Given the description of an element on the screen output the (x, y) to click on. 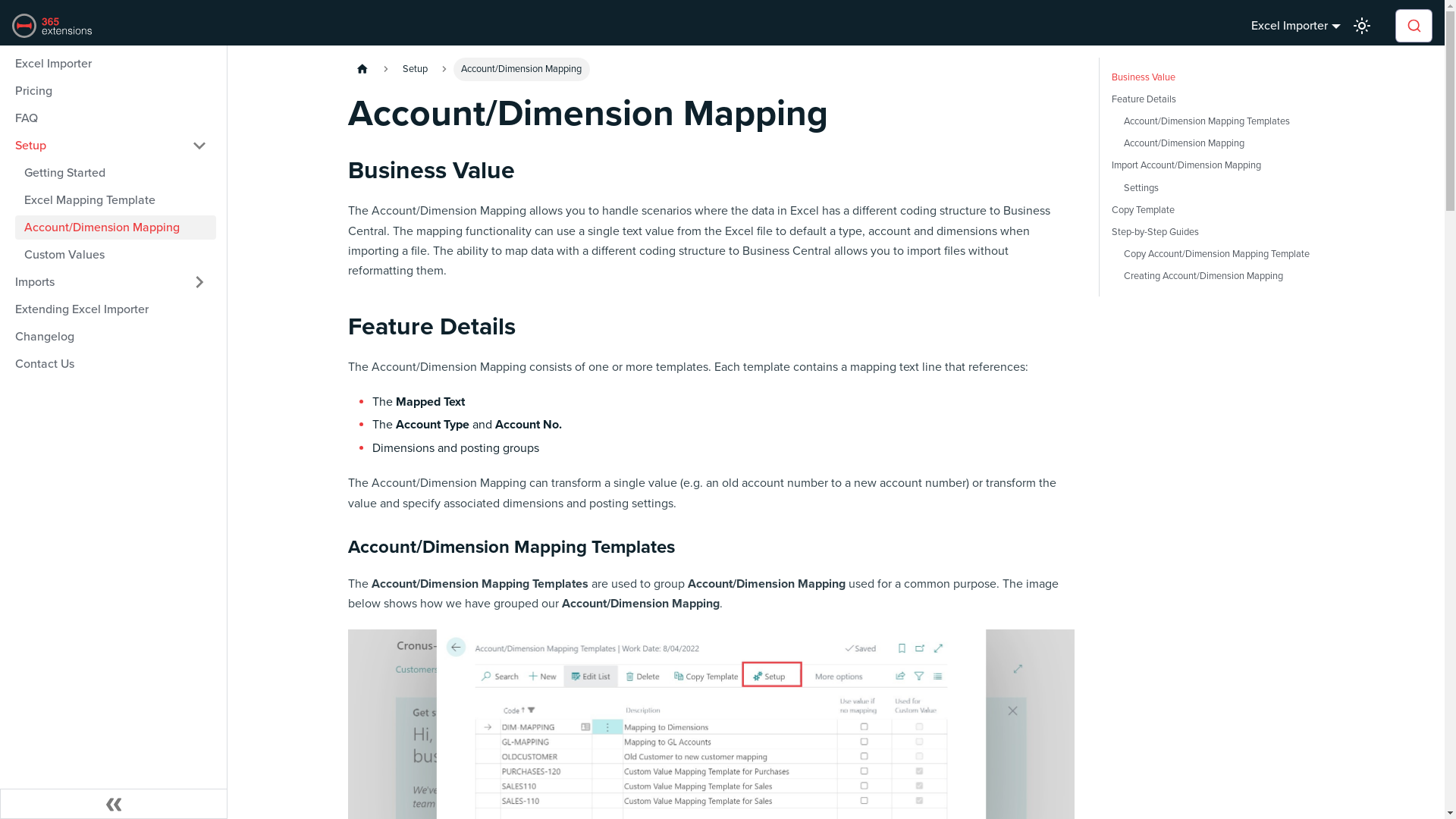
Account/Dimension Mapping Element type: text (115, 227)
Copy Template Element type: text (1214, 210)
Copy Account/Dimension Mapping Template Element type: text (1217, 254)
Setup Element type: text (111, 145)
Pricing Element type: text (111, 90)
Excel Importer Element type: text (1295, 25)
Extending Excel Importer Element type: text (111, 309)
Import Account/Dimension Mapping Element type: text (1214, 165)
Step-by-Step Guides Element type: text (1214, 232)
Account/Dimension Mapping Element type: text (1217, 143)
Contact Us Element type: text (111, 363)
Getting Started Element type: text (115, 172)
Custom Values Element type: text (115, 254)
Switch between dark and light mode (currently light mode) Element type: hover (1361, 25)
Business Value Element type: text (1214, 77)
Feature Details Element type: text (1214, 99)
Changelog Element type: text (111, 336)
FAQ Element type: text (111, 118)
Excel Importer Element type: text (111, 63)
Account/Dimension Mapping Templates Element type: text (1217, 121)
Creating Account/Dimension Mapping Element type: text (1217, 276)
Imports Element type: text (111, 281)
Excel Mapping Template Element type: text (115, 200)
Settings Element type: text (1217, 188)
